Given the description of an element on the screen output the (x, y) to click on. 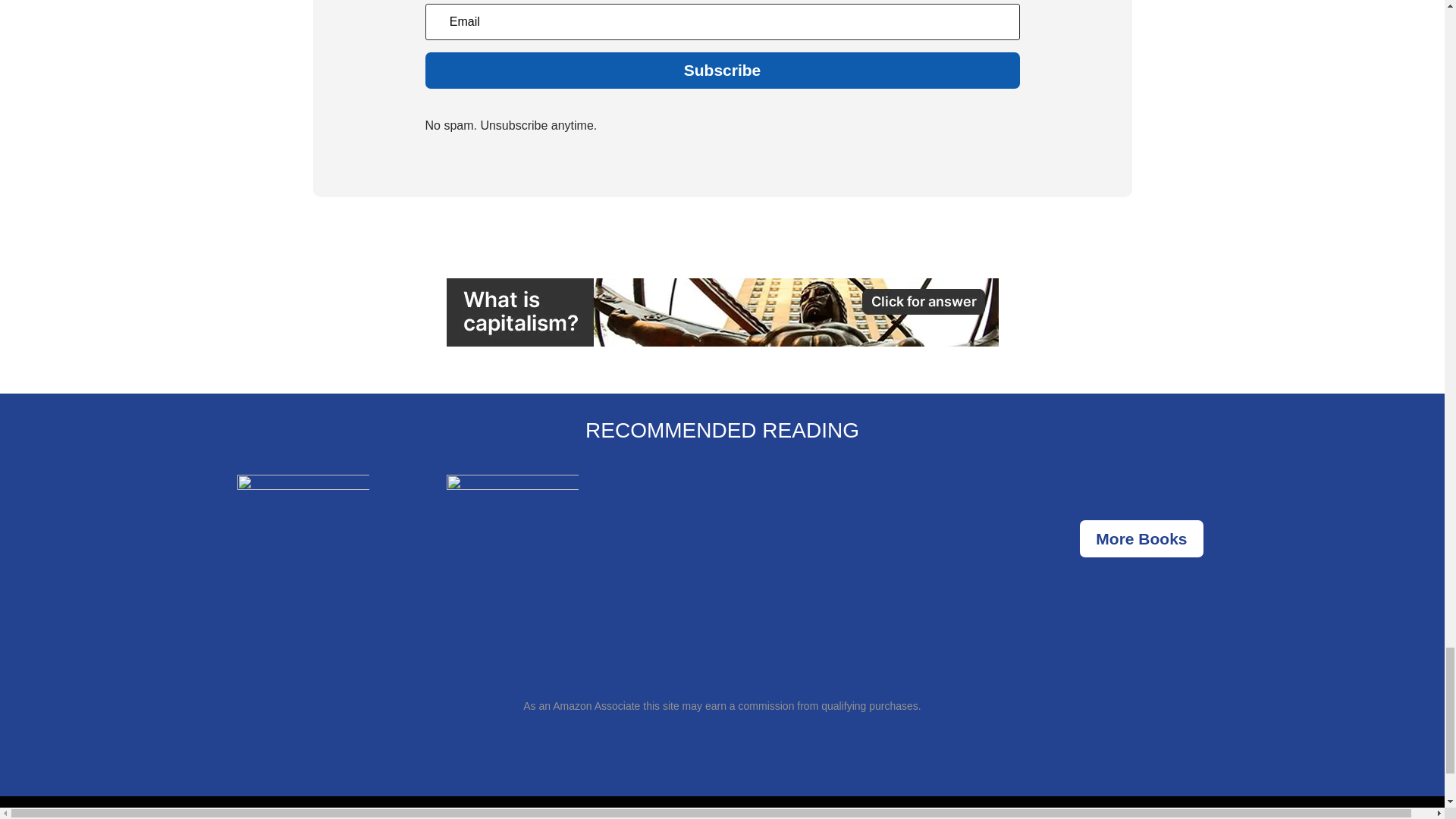
Capitalism Tour (721, 312)
